Given the description of an element on the screen output the (x, y) to click on. 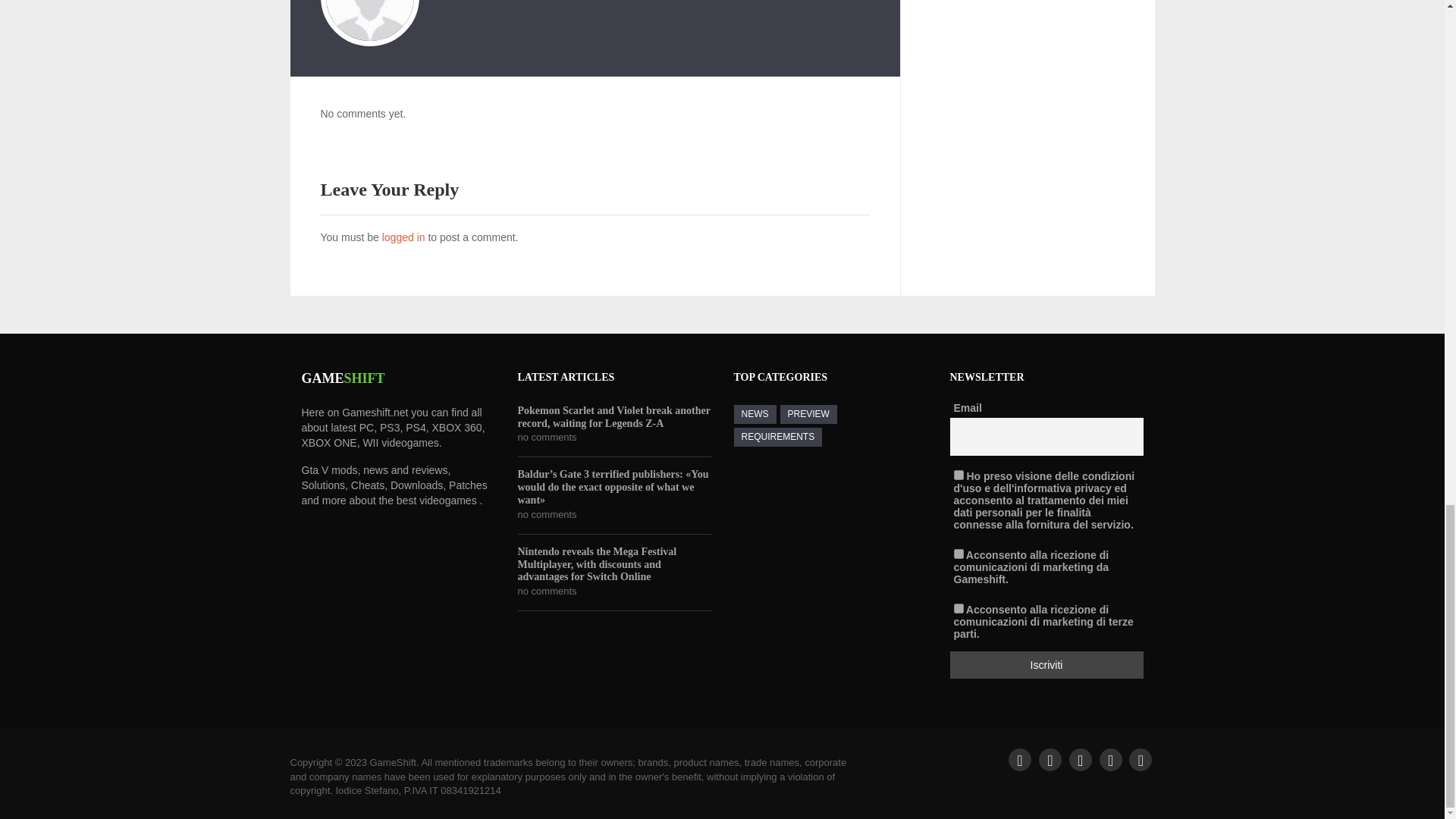
on (958, 553)
Facebook (1019, 759)
no comments (546, 590)
Flickr (1140, 759)
Twitter (1050, 759)
no comments (546, 437)
no comments (546, 514)
Dribbble (1080, 759)
logged in (403, 236)
NEWS (754, 414)
on (958, 608)
Iscriviti (1045, 664)
Iscriviti (1045, 664)
